Given the description of an element on the screen output the (x, y) to click on. 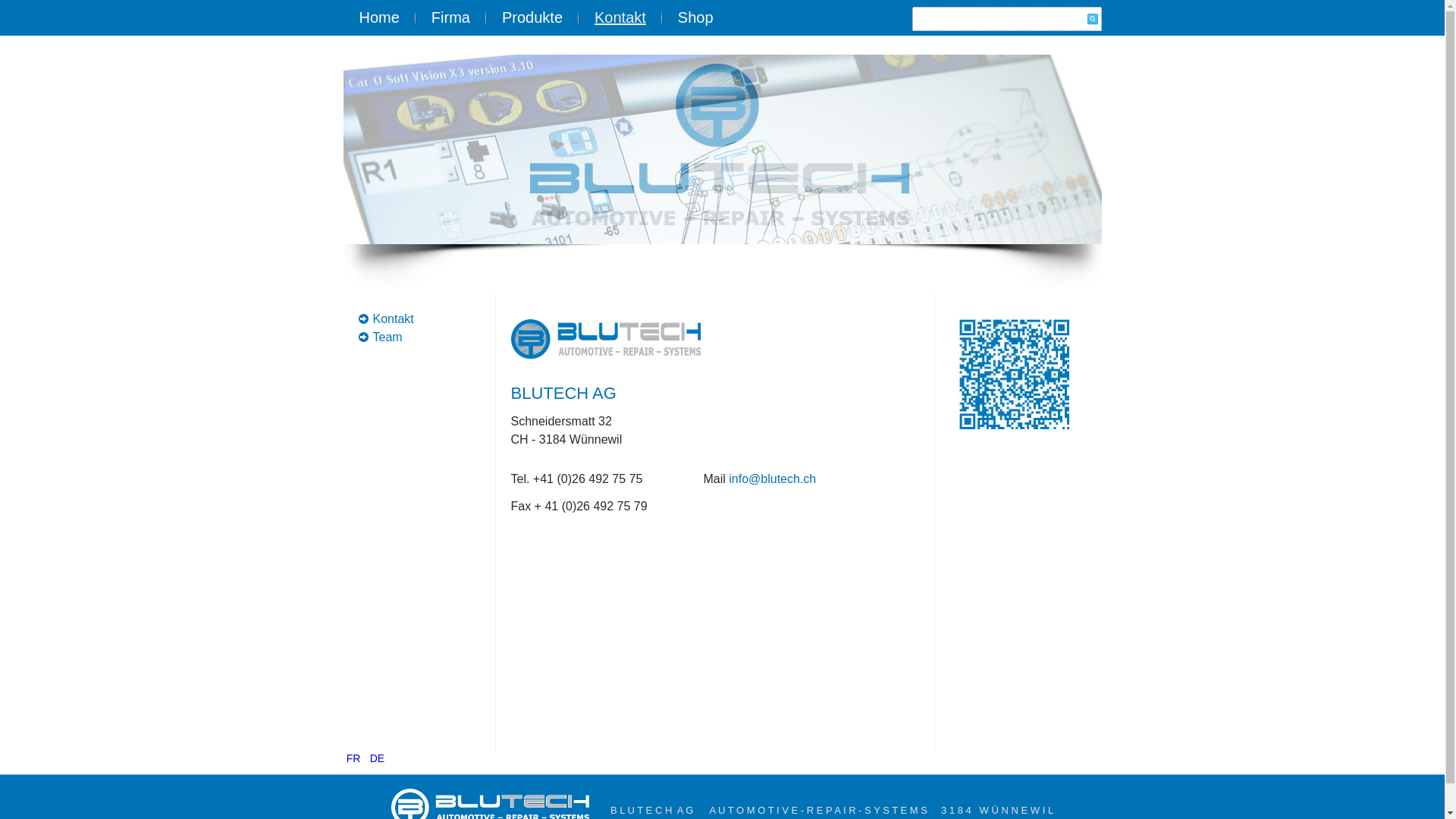
info@blutech.ch Element type: text (771, 478)
Shop Element type: text (695, 17)
DE Element type: text (377, 758)
BLUTECH Element type: hover (721, 149)
Produkte Element type: text (531, 17)
Kontakt Element type: text (393, 318)
Home Element type: text (379, 17)
Kontakt Element type: text (620, 17)
Team Element type: text (387, 336)
FR Element type: text (355, 758)
Firma Element type: text (450, 17)
